Given the description of an element on the screen output the (x, y) to click on. 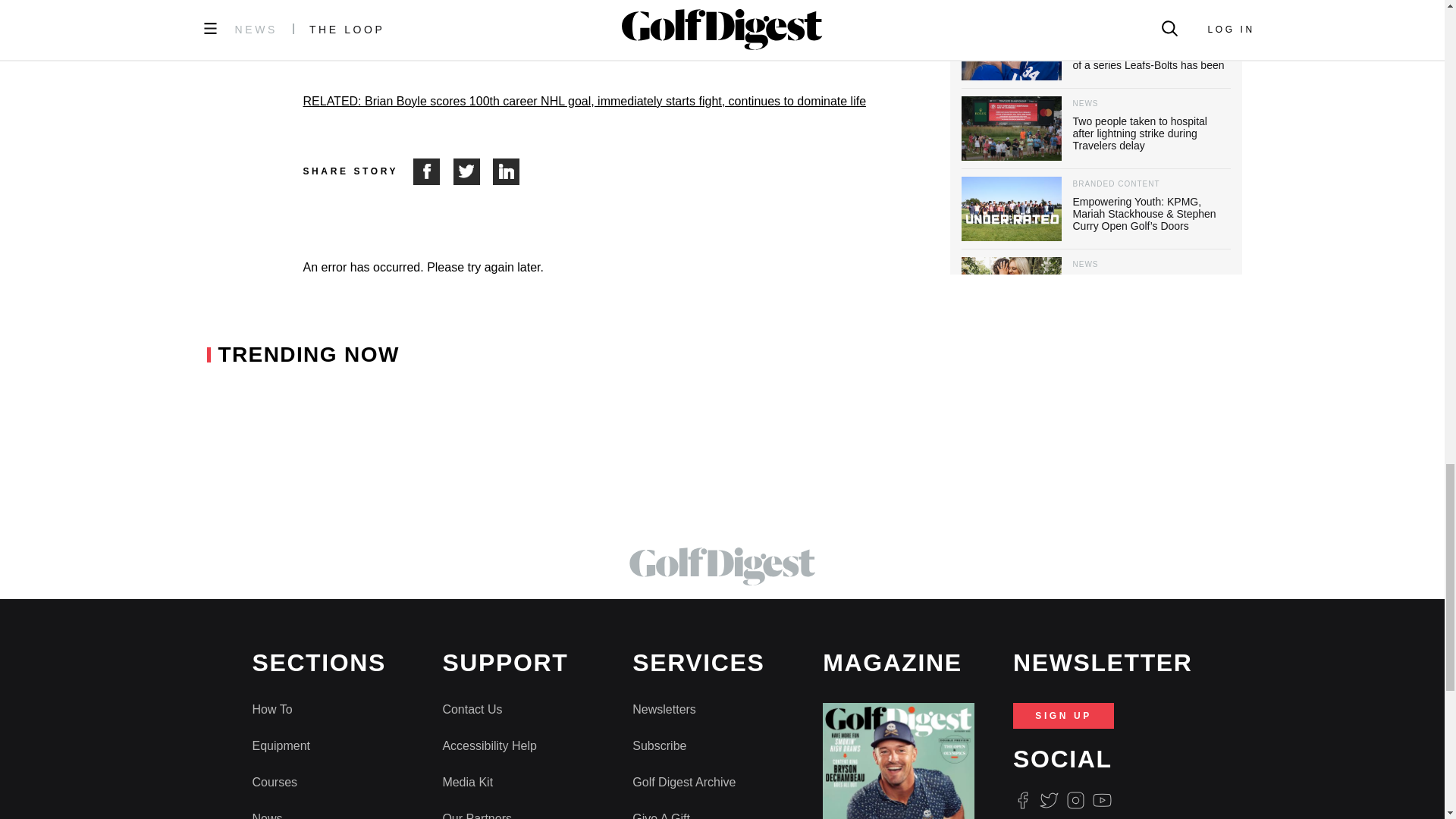
Twitter Logo (1048, 800)
Instagram Logo (1074, 800)
Youtube Icon (1102, 800)
Share on Facebook (432, 171)
Share on Twitter (472, 171)
Share on LinkedIn (506, 171)
Facebook Logo (1022, 800)
